Given the description of an element on the screen output the (x, y) to click on. 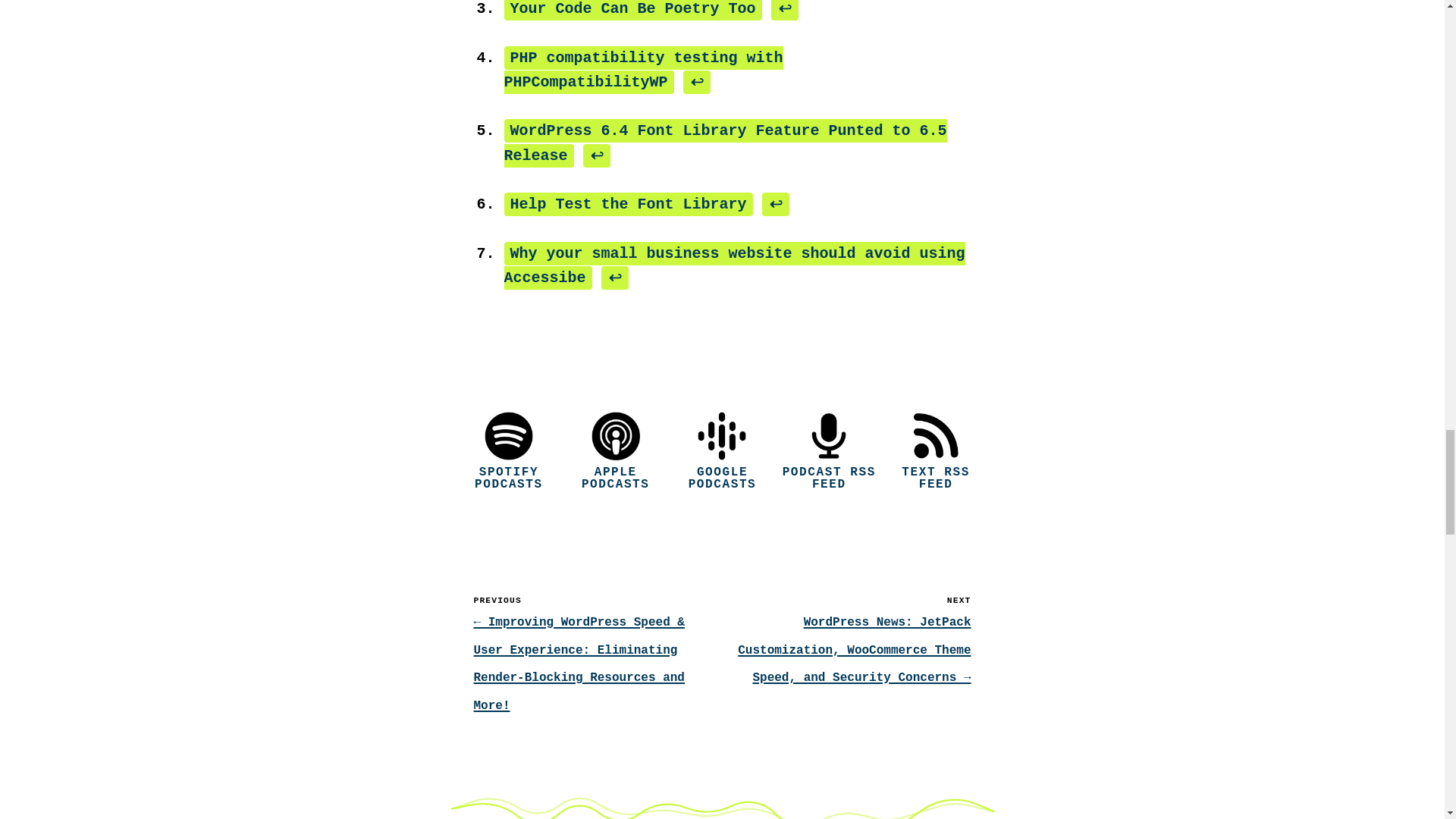
WordPress 6.4 Font Library Feature Punted to 6.5 Release (724, 142)
APPLE PODCASTS (614, 453)
Why your small business website should avoid using Accessibe (733, 265)
TEXT RSS FEED (936, 453)
PODCAST RSS FEED (828, 453)
Your Code Can Be Poetry Too (632, 10)
GOOGLE PODCASTS (722, 453)
SPOTIFY PODCASTS (508, 453)
PHP compatibility testing with PHPCompatibilityWP (643, 69)
Help Test the Font Library (627, 204)
